Given the description of an element on the screen output the (x, y) to click on. 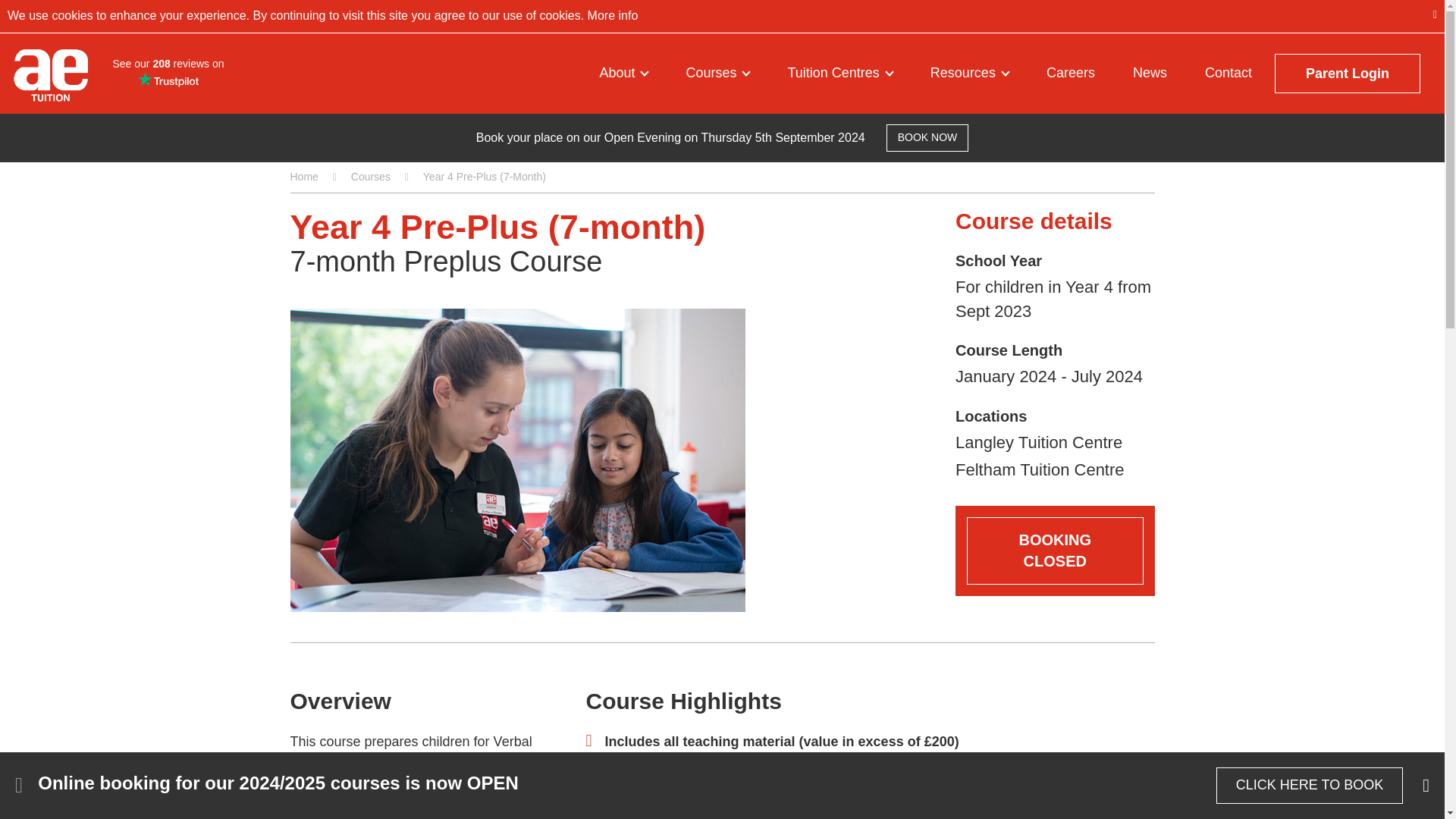
More info (610, 15)
About (622, 72)
Courses (716, 72)
Tuition Centres (839, 72)
About (622, 72)
Customer reviews powered by Trustpilot (167, 73)
Courses (716, 72)
